Given the description of an element on the screen output the (x, y) to click on. 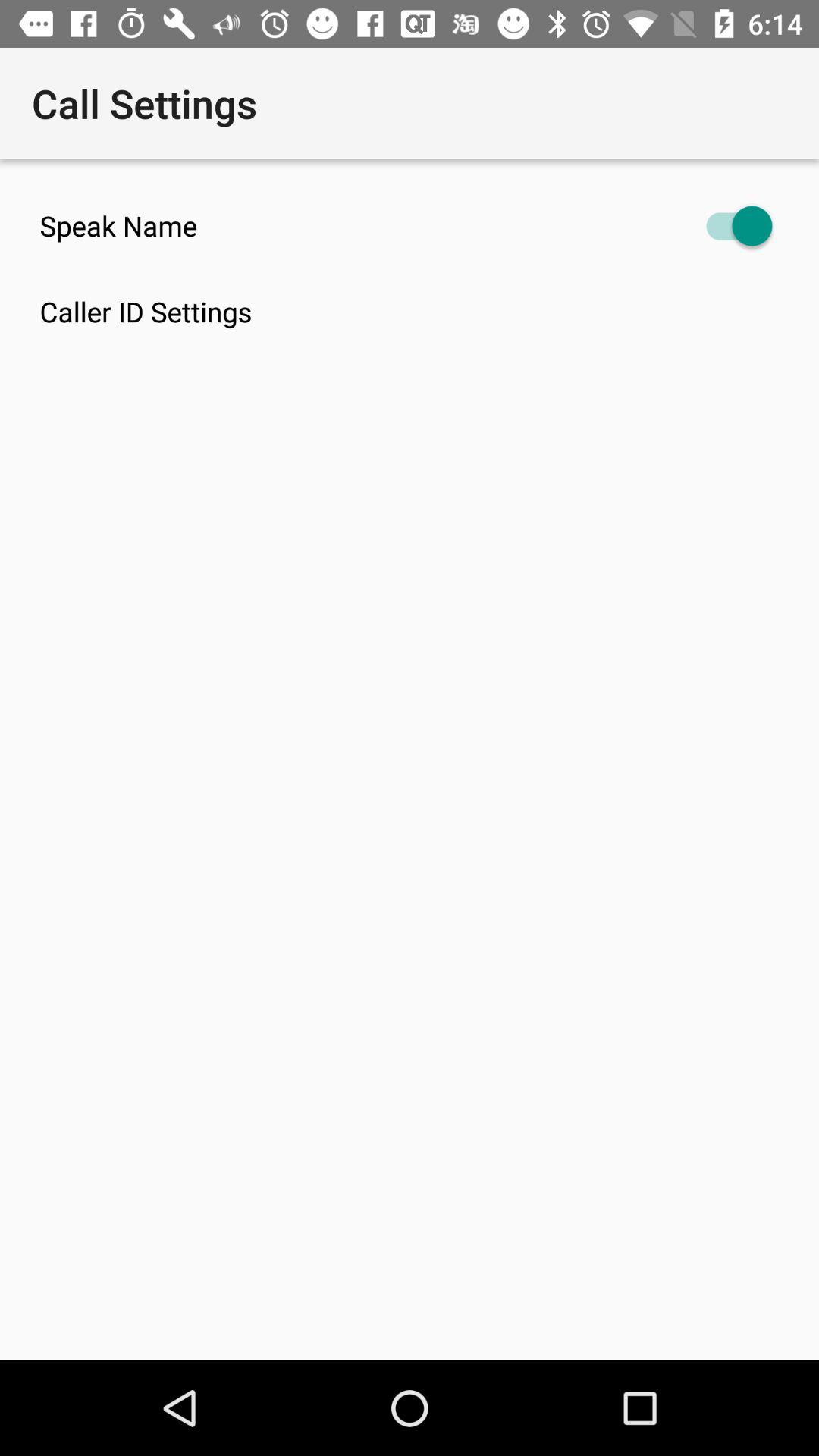
launch icon below speak name item (429, 311)
